Given the description of an element on the screen output the (x, y) to click on. 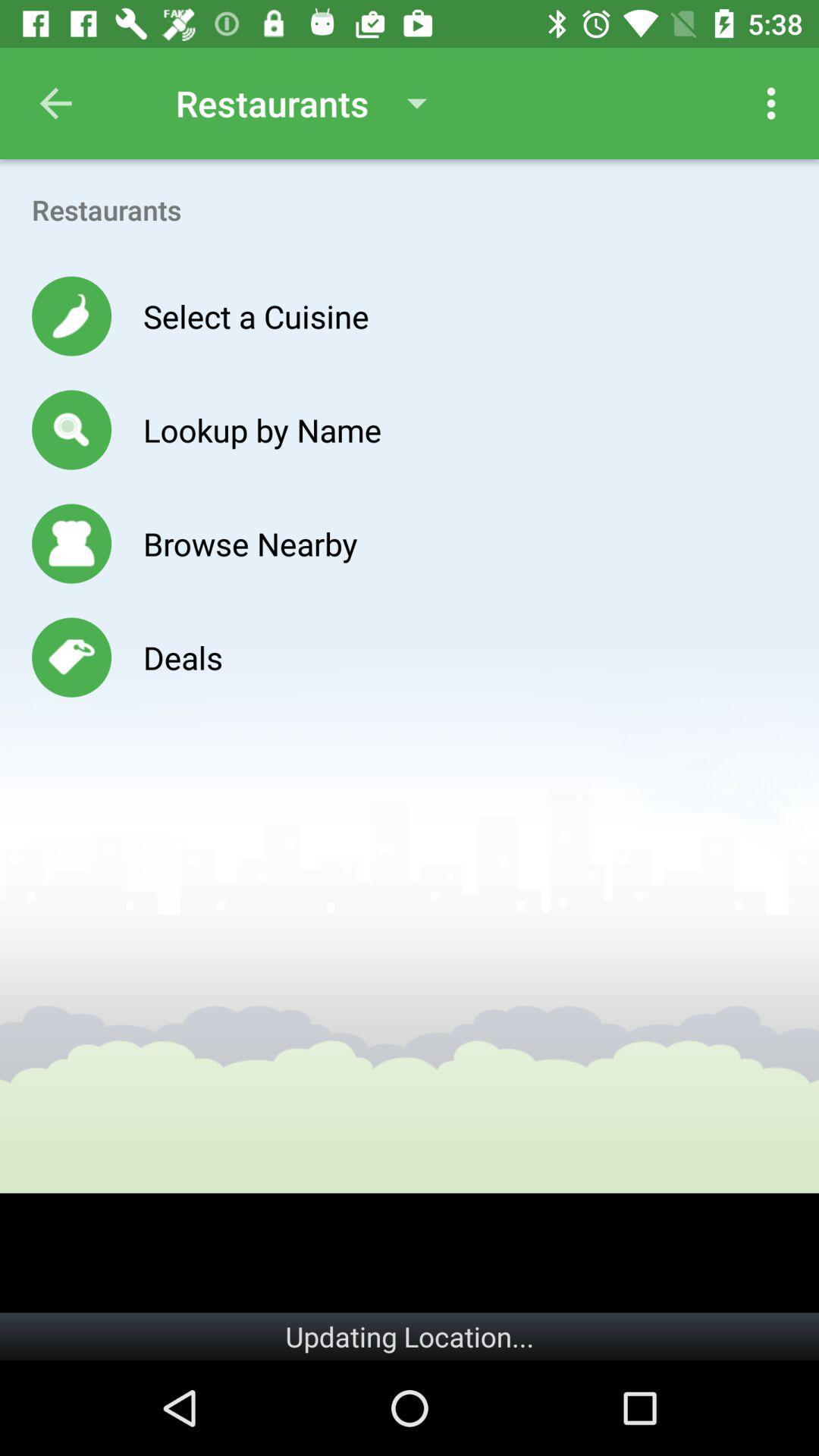
click the updating location... item (409, 1336)
